Given the description of an element on the screen output the (x, y) to click on. 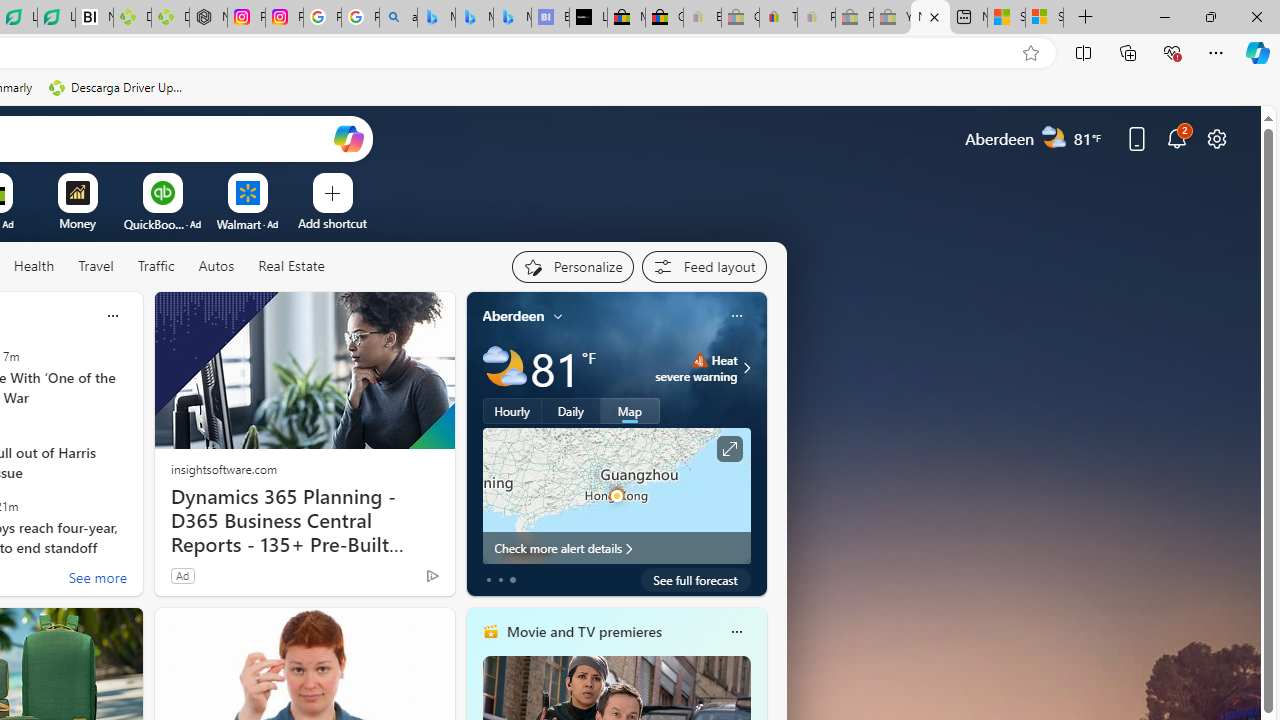
tab-1 (500, 579)
Check more alert details (616, 547)
Threats and offensive language policy | eBay (778, 17)
Personalize your feed" (571, 266)
Daily (571, 411)
Traffic (155, 265)
Health (33, 267)
Travel (95, 265)
Nvidia va a poner a prueba la paciencia de los inversores (93, 17)
